Given the description of an element on the screen output the (x, y) to click on. 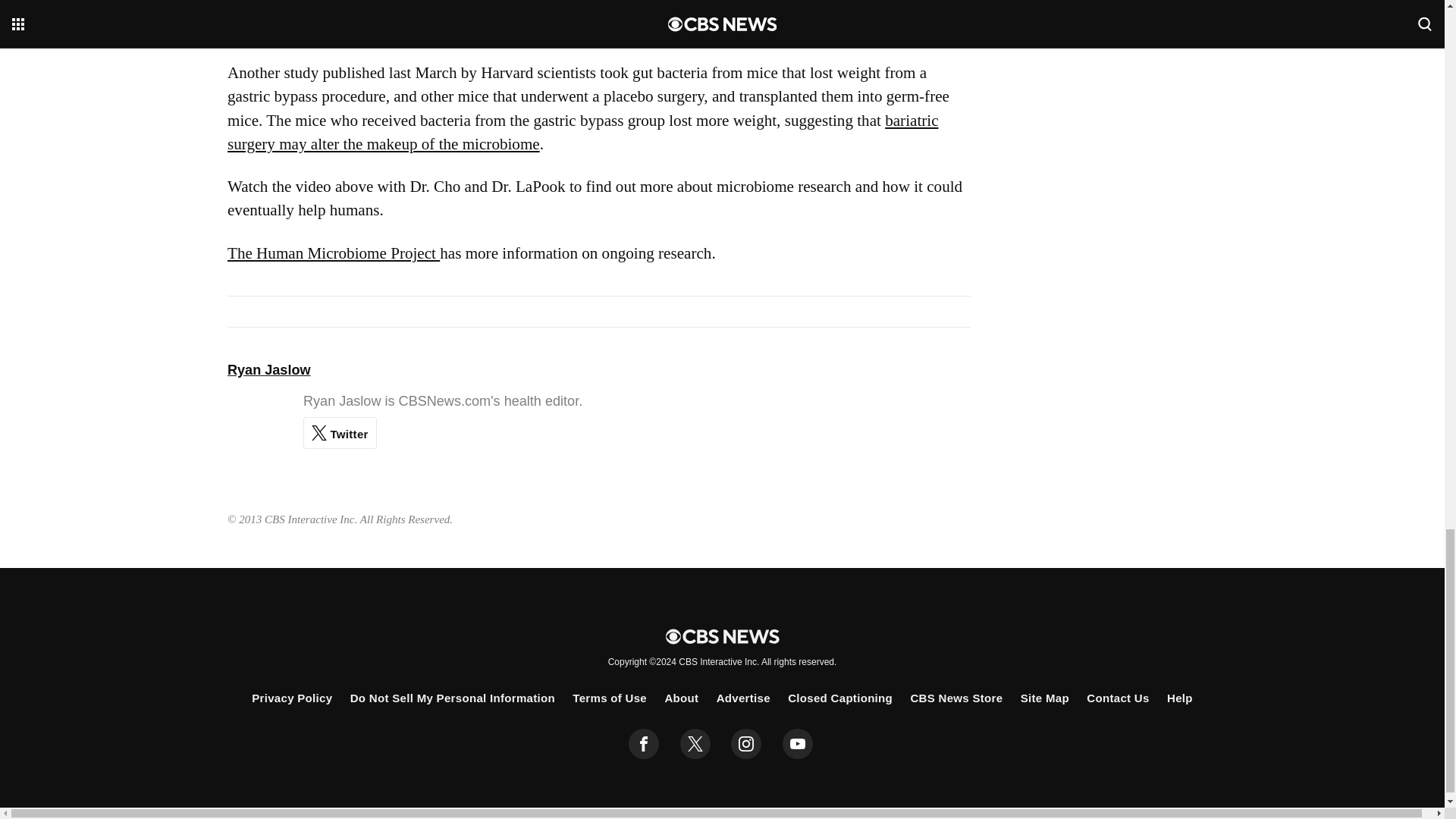
facebook (643, 743)
instagram (745, 743)
twitter (694, 743)
youtube (797, 743)
